Given the description of an element on the screen output the (x, y) to click on. 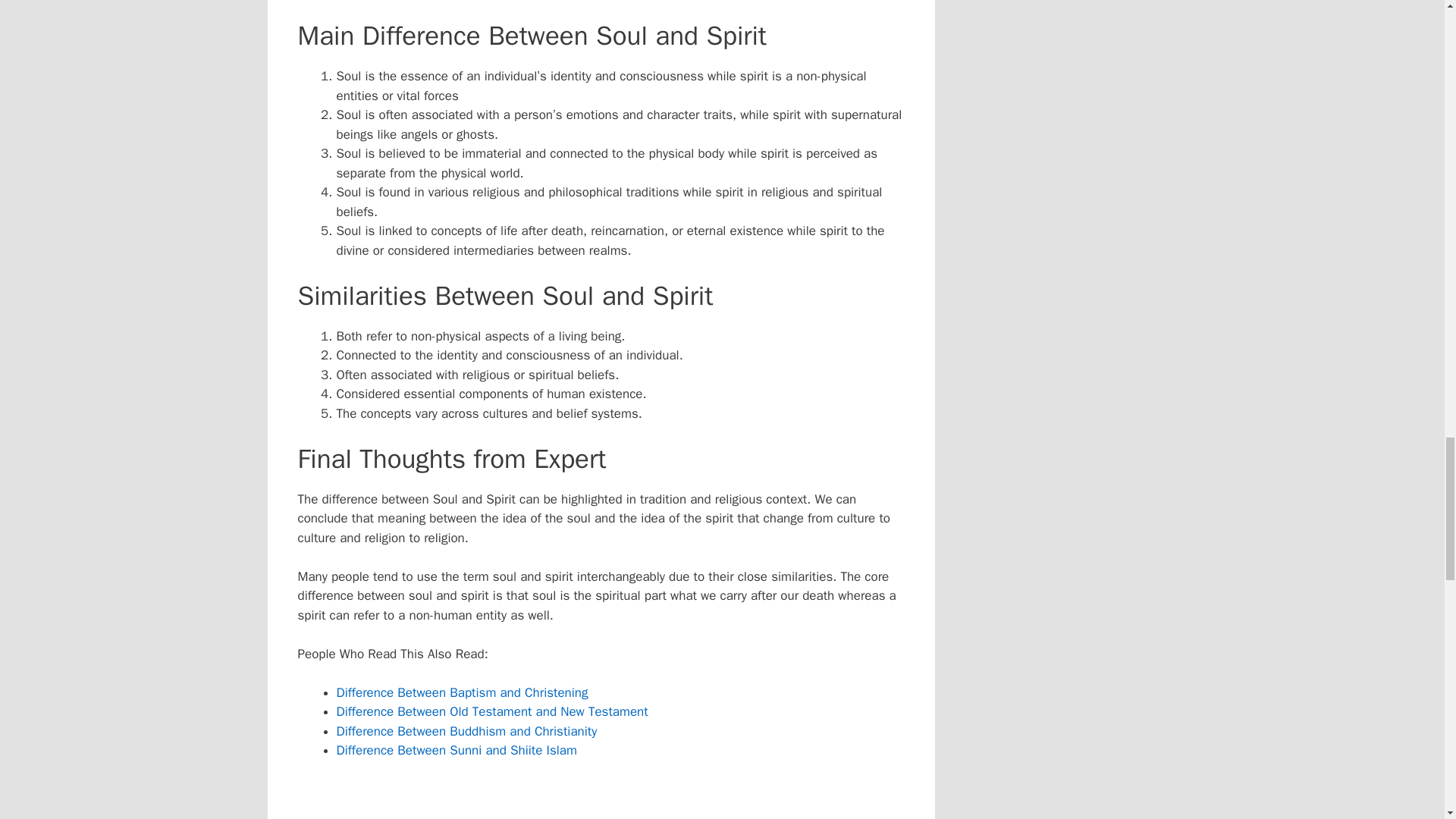
Difference Between Baptism and Christening (462, 692)
Difference Between Old Testament and New Testament (491, 711)
Difference Between Sunni and Shiite Islam (456, 750)
Difference Between Buddhism and Christianity (466, 731)
